Given the description of an element on the screen output the (x, y) to click on. 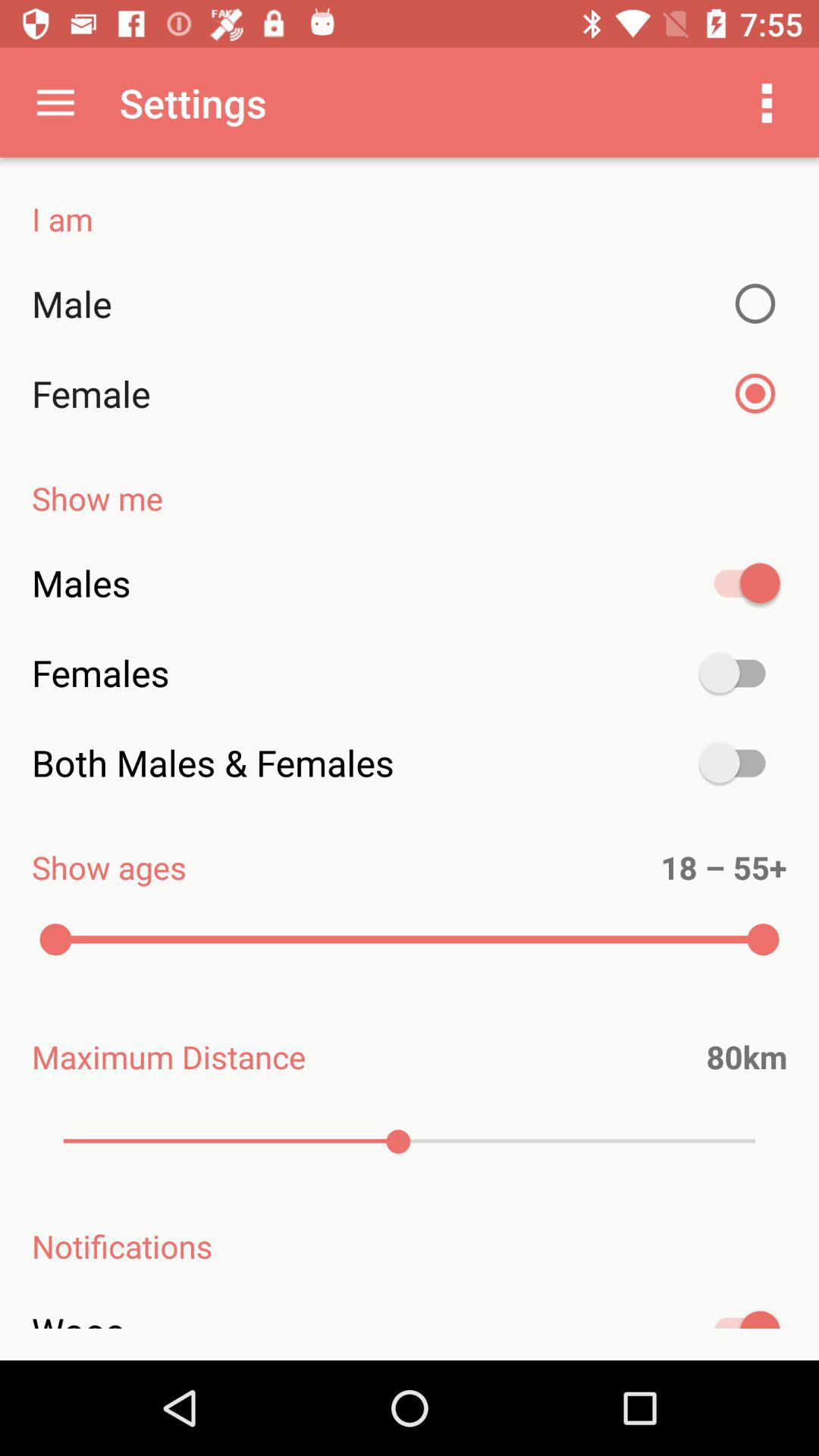
turn off item above the i am item (55, 102)
